Given the description of an element on the screen output the (x, y) to click on. 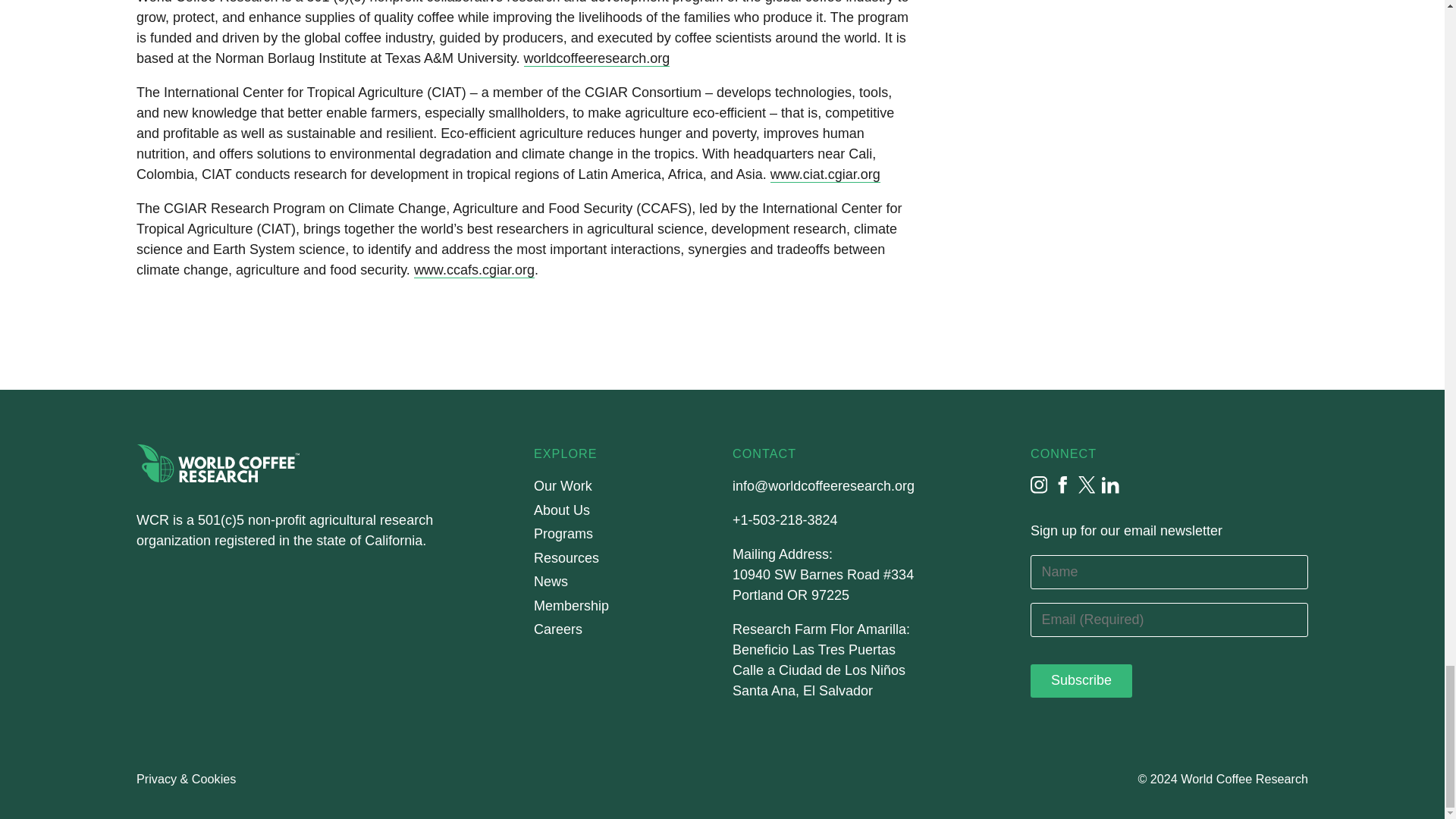
Our Work (563, 486)
Programs (563, 534)
www.ccafs.cgiar.org (473, 270)
worldcoffeeresearch.org (596, 58)
Follow us on X (1087, 484)
News (550, 581)
About Us (561, 510)
Like us on Facebook (1062, 484)
Connect with us on LinkedIn (1110, 484)
Resources (566, 558)
